Given the description of an element on the screen output the (x, y) to click on. 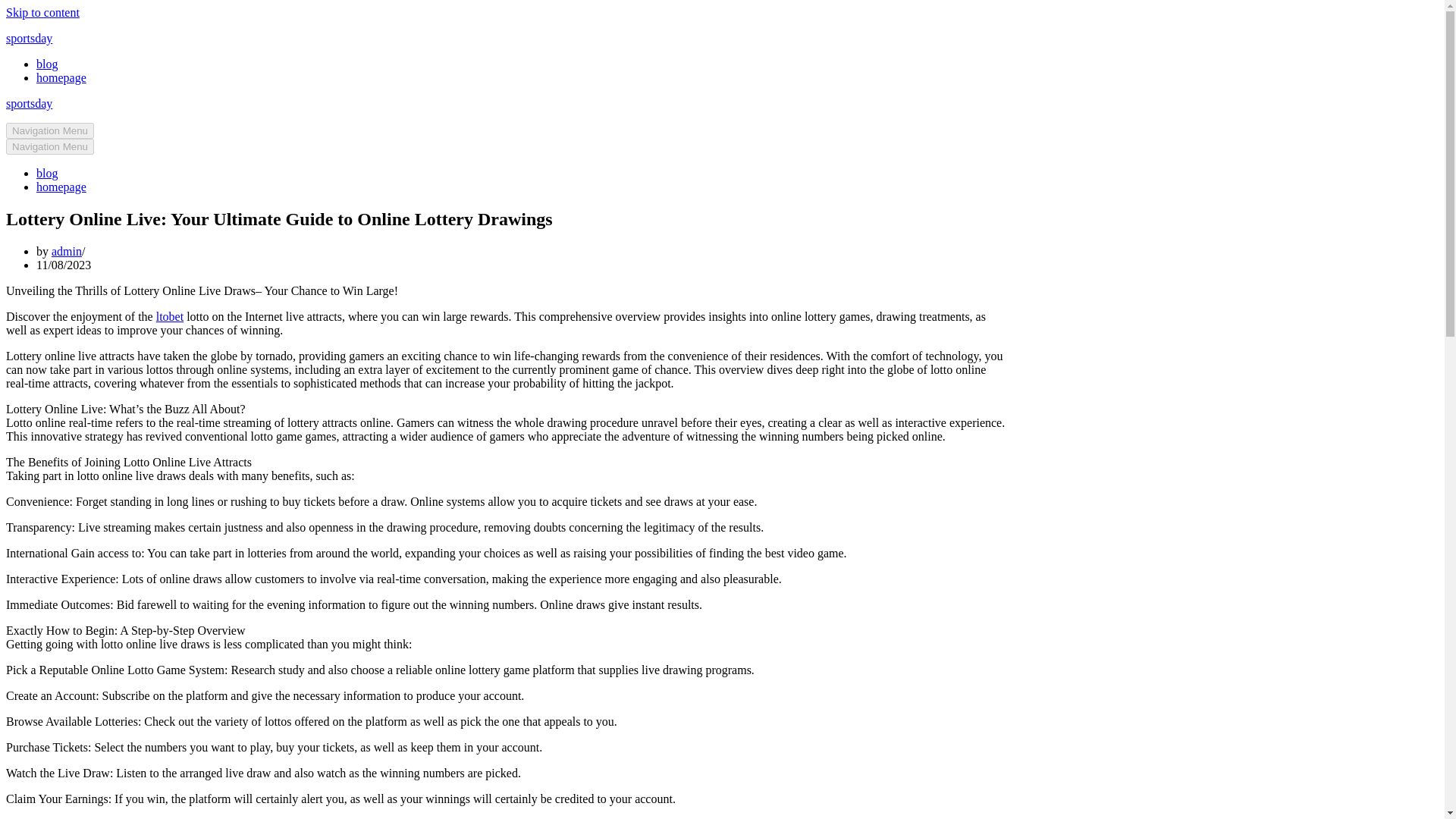
blog (47, 63)
ltobet (169, 316)
Navigation Menu (49, 146)
homepage (60, 186)
Skip to content (42, 11)
Navigation Menu (49, 130)
Posts by admin (65, 250)
blog (47, 173)
admin (65, 250)
homepage (60, 77)
